Given the description of an element on the screen output the (x, y) to click on. 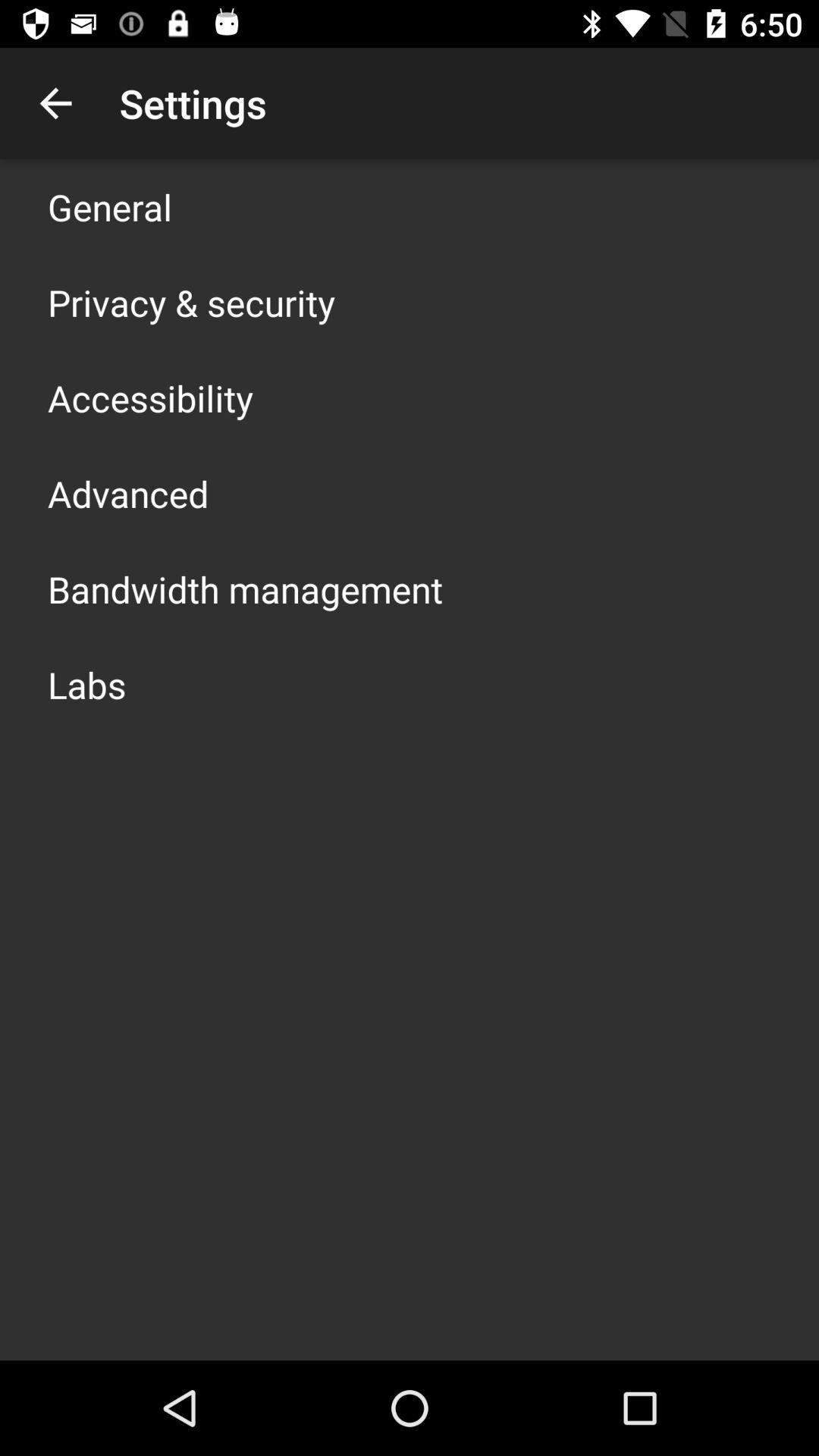
jump until the bandwidth management app (245, 588)
